Given the description of an element on the screen output the (x, y) to click on. 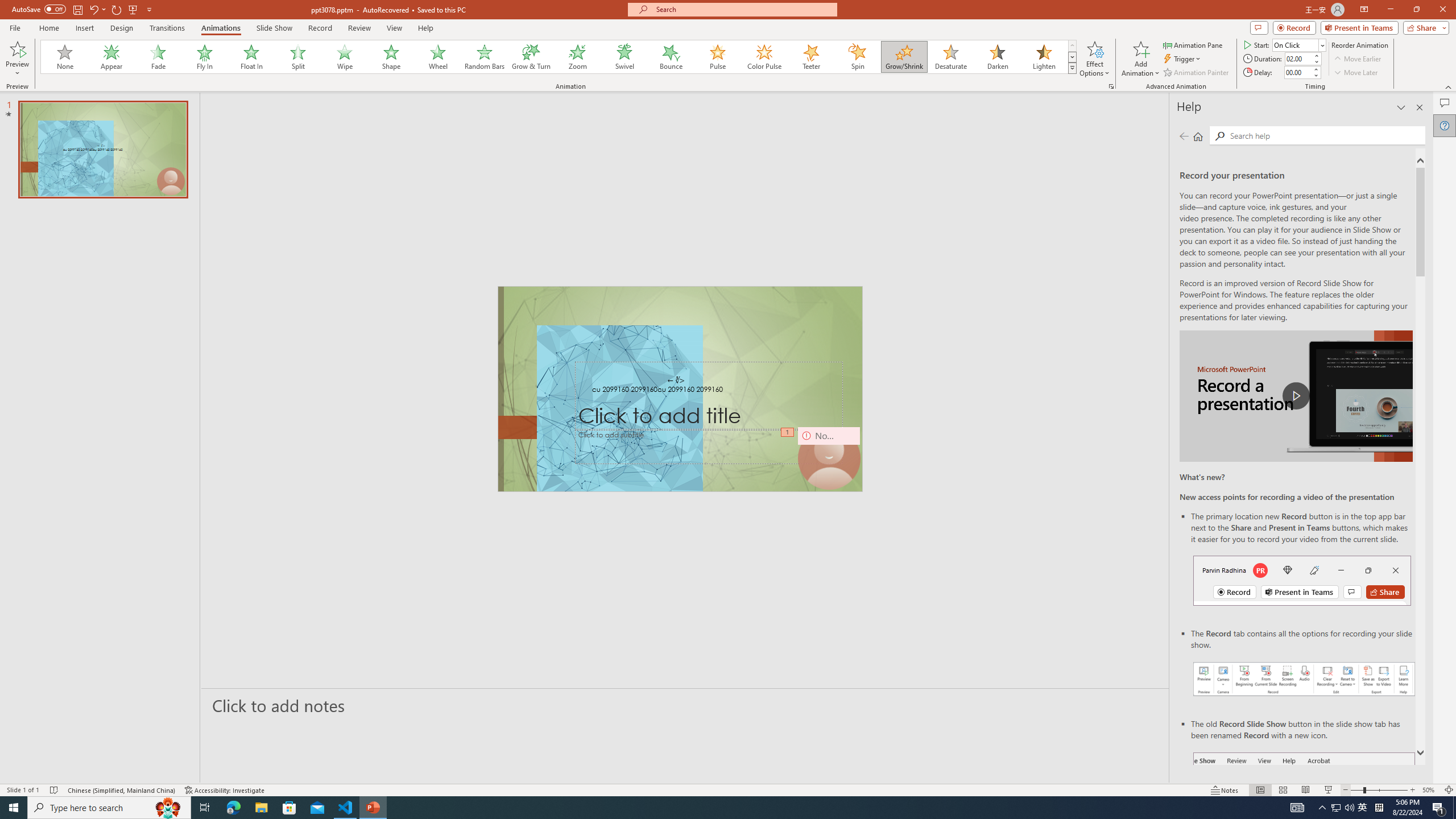
Darken (997, 56)
Pulse (717, 56)
Move Earlier (1357, 58)
Animation Painter (1196, 72)
Grow/Shrink (903, 56)
Animation Pane (1193, 44)
None (65, 56)
